Given the description of an element on the screen output the (x, y) to click on. 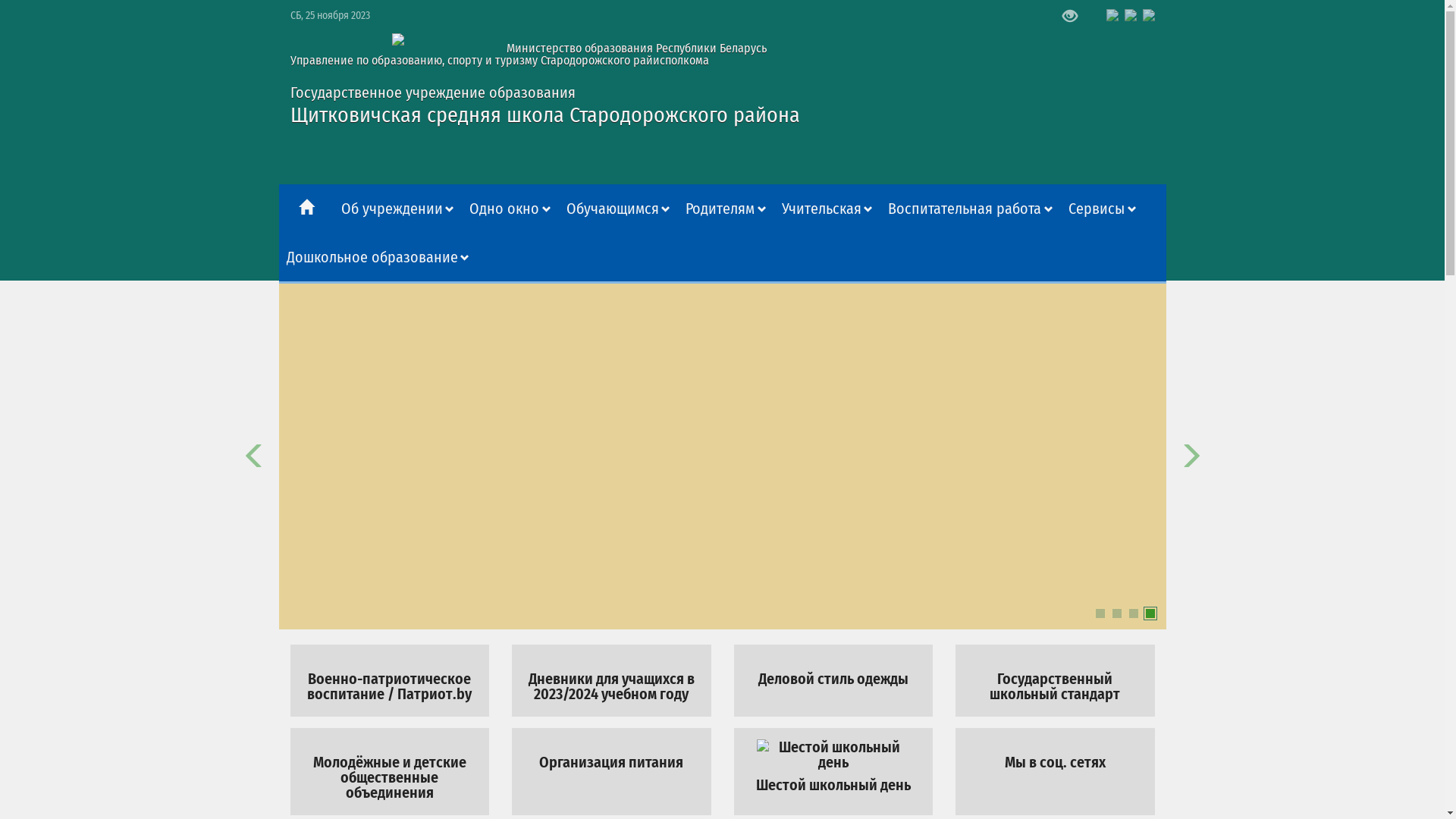
2 Element type: text (1115, 613)
4 Element type: text (1149, 613)
1 Element type: text (1099, 613)
3 Element type: text (1132, 613)
